Given the description of an element on the screen output the (x, y) to click on. 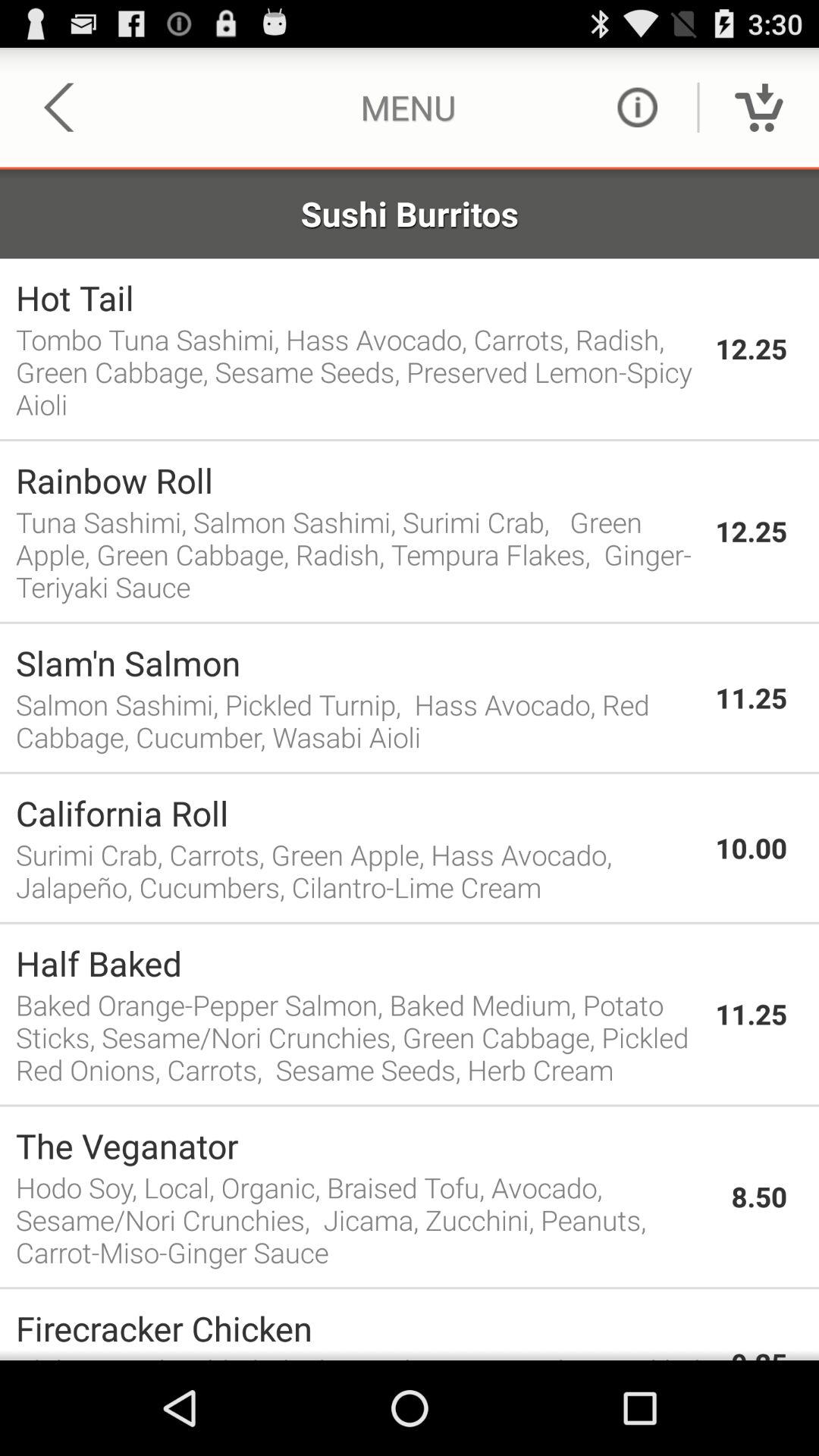
turn off app above the rainbow roll app (409, 440)
